Given the description of an element on the screen output the (x, y) to click on. 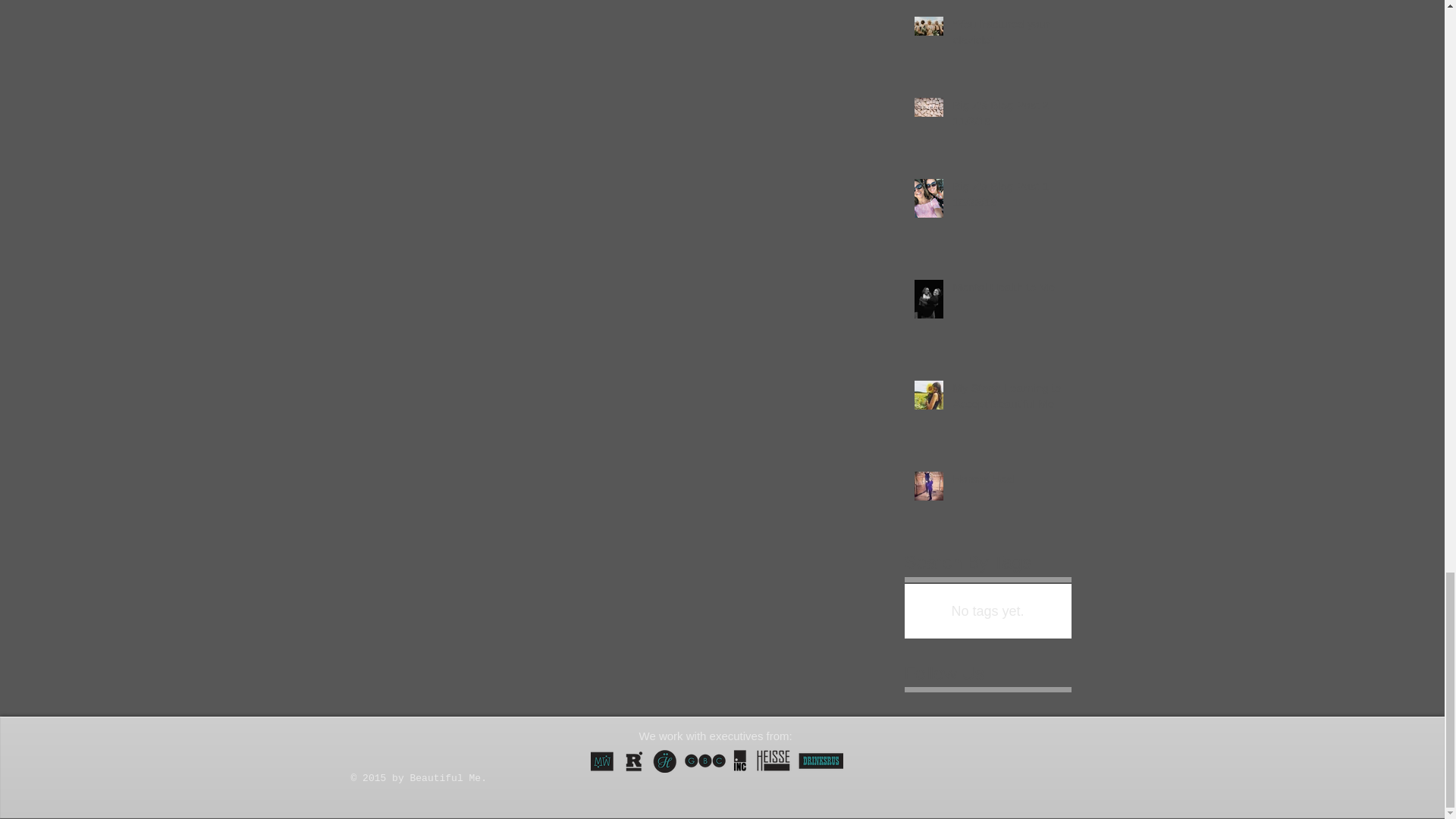
Mental Health to Me (1006, 290)
"You fractured your clavicle" (1006, 34)
Horses Heal (1006, 481)
My Story: Learning to Accept Beautiful Me (1006, 398)
